Given the description of an element on the screen output the (x, y) to click on. 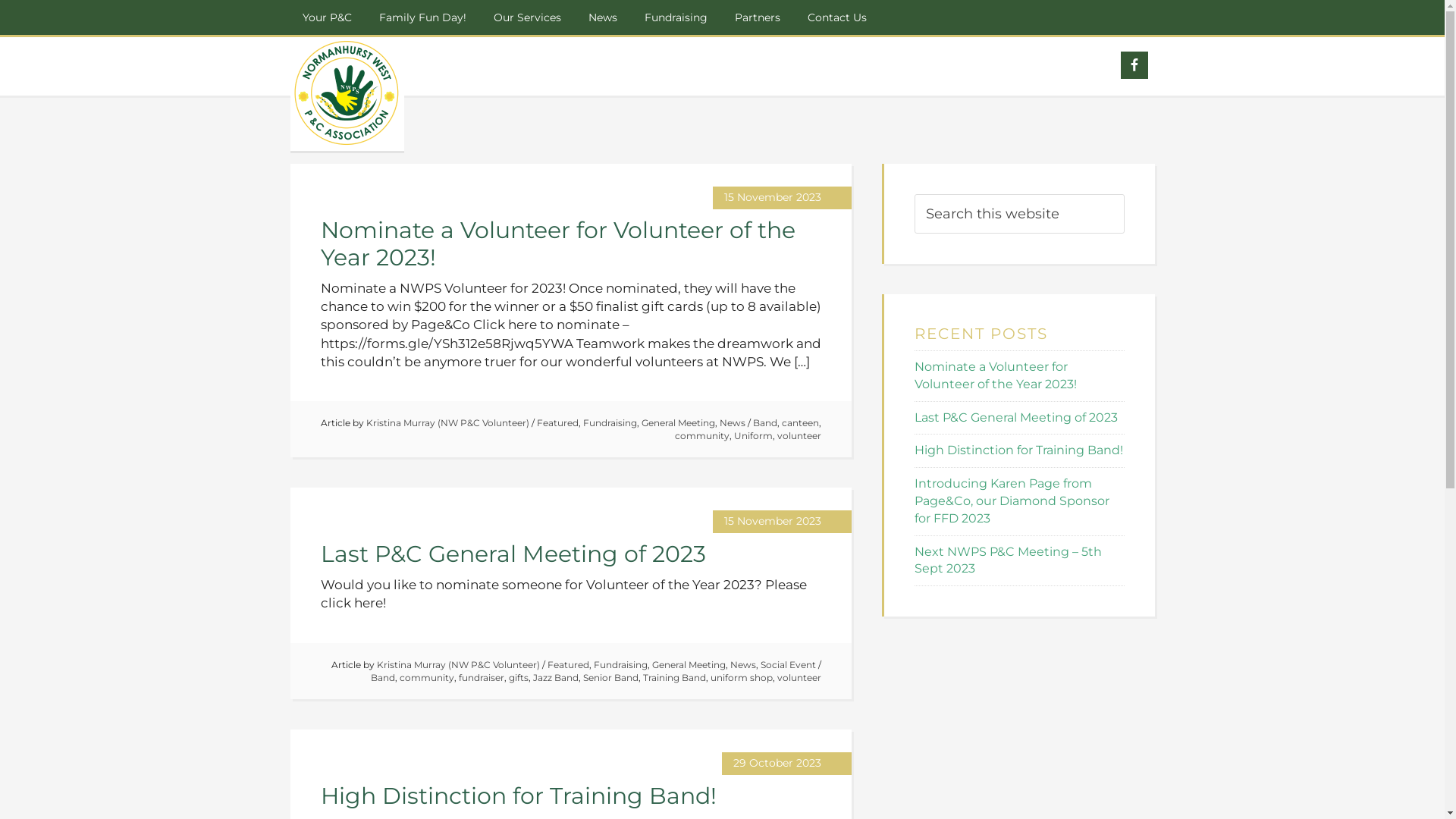
uniform shop Element type: text (740, 677)
General Meeting Element type: text (678, 422)
Nominate a Volunteer for Volunteer of the Year 2023! Element type: text (557, 243)
community Element type: text (425, 677)
Fundraising Element type: text (609, 422)
Band Element type: text (382, 677)
Jazz Band Element type: text (554, 677)
Nominate a Volunteer for Volunteer of the Year 2023! Element type: text (995, 375)
News Element type: text (602, 17)
community Element type: text (701, 435)
Featured Element type: text (557, 422)
Contact Us Element type: text (836, 17)
Fundraising Element type: text (619, 664)
Kristina Murray (NW P&C Volunteer) Element type: text (446, 422)
Training Band Element type: text (674, 677)
Kristina Murray (NW P&C Volunteer) Element type: text (457, 664)
NWPS P&C Element type: text (346, 93)
General Meeting Element type: text (688, 664)
gifts Element type: text (517, 677)
Uniform Element type: text (753, 435)
High Distinction for Training Band! Element type: text (517, 795)
News Element type: text (731, 422)
Social Event Element type: text (787, 664)
Our Services Element type: text (526, 17)
volunteer Element type: text (798, 435)
fundraiser Element type: text (480, 677)
Senior Band Element type: text (609, 677)
Last P&C General Meeting of 2023 Element type: text (512, 553)
Search Element type: text (1123, 193)
canteen Element type: text (799, 422)
News Element type: text (742, 664)
volunteer Element type: text (798, 677)
Family Fun Day! Element type: text (422, 17)
Last P&C General Meeting of 2023 Element type: text (1015, 417)
Partners Element type: text (756, 17)
Featured Element type: text (568, 664)
High Distinction for Training Band! Element type: text (1018, 449)
Fundraising Element type: text (675, 17)
Band Element type: text (764, 422)
Your P&C Element type: text (326, 17)
